Given the description of an element on the screen output the (x, y) to click on. 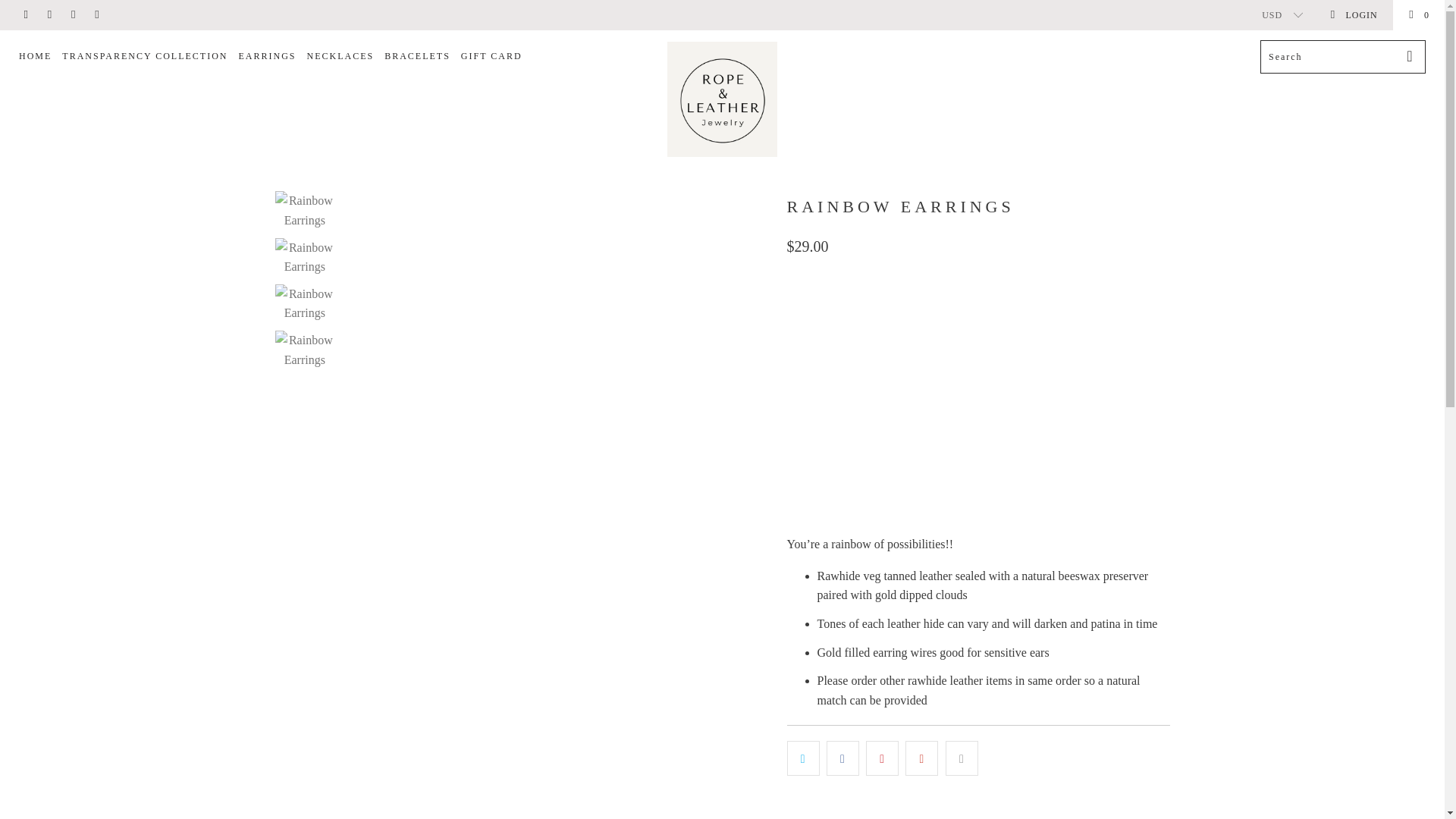
Rope and Leather on Pinterest (48, 14)
TRANSPARENCY COLLECTION (144, 56)
Share this on Twitter (803, 758)
Email this to a friend (961, 758)
Rope and Leather on Instagram (73, 14)
NECKLACES (339, 56)
GIFT CARD (491, 56)
Rope and Leather (722, 99)
Share this on Pinterest (882, 758)
LOGIN (1352, 15)
